Given the description of an element on the screen output the (x, y) to click on. 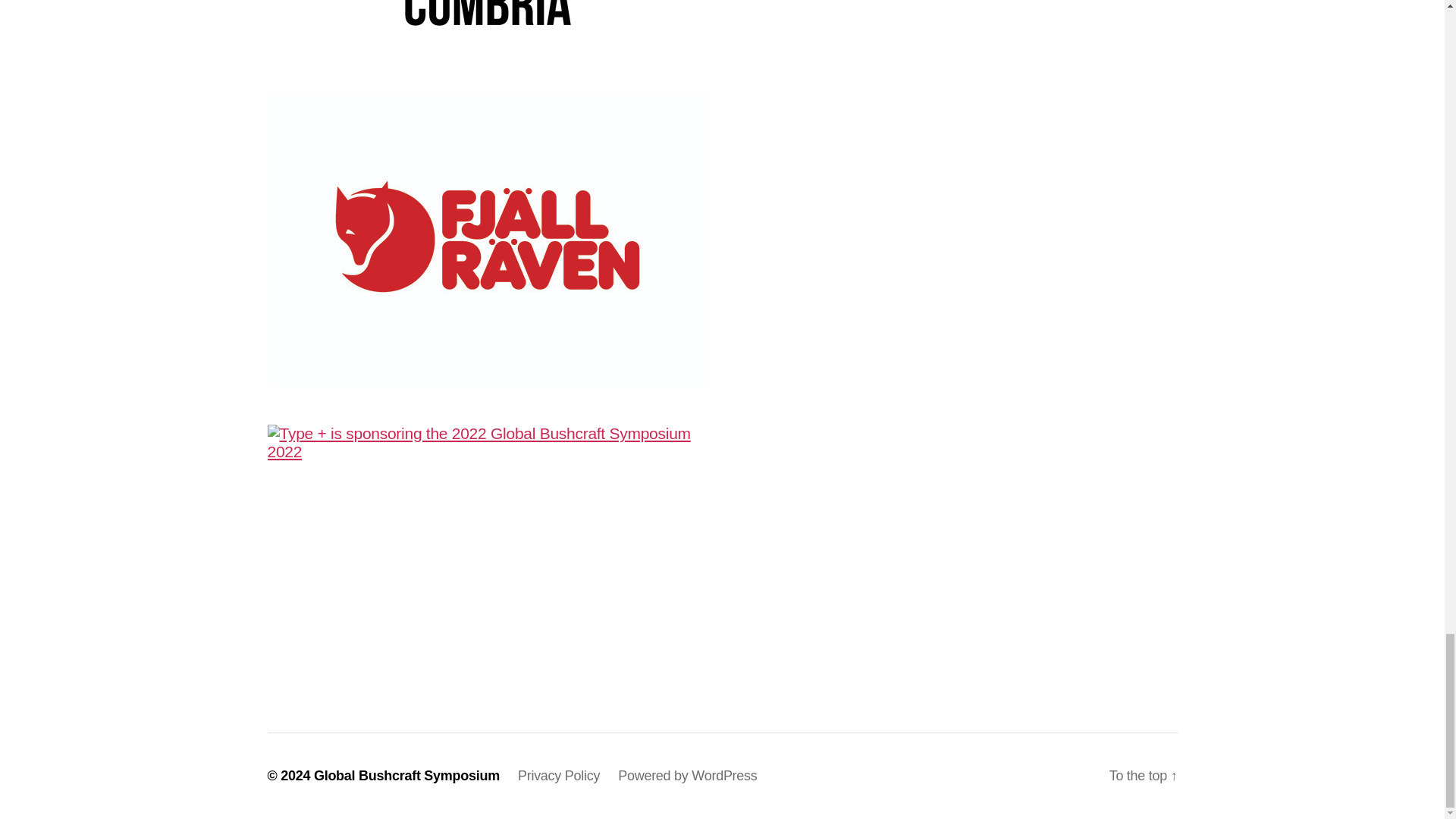
Privacy Policy (558, 775)
Powered by WordPress (687, 775)
Global Bushcraft Symposium (406, 775)
